Given the description of an element on the screen output the (x, y) to click on. 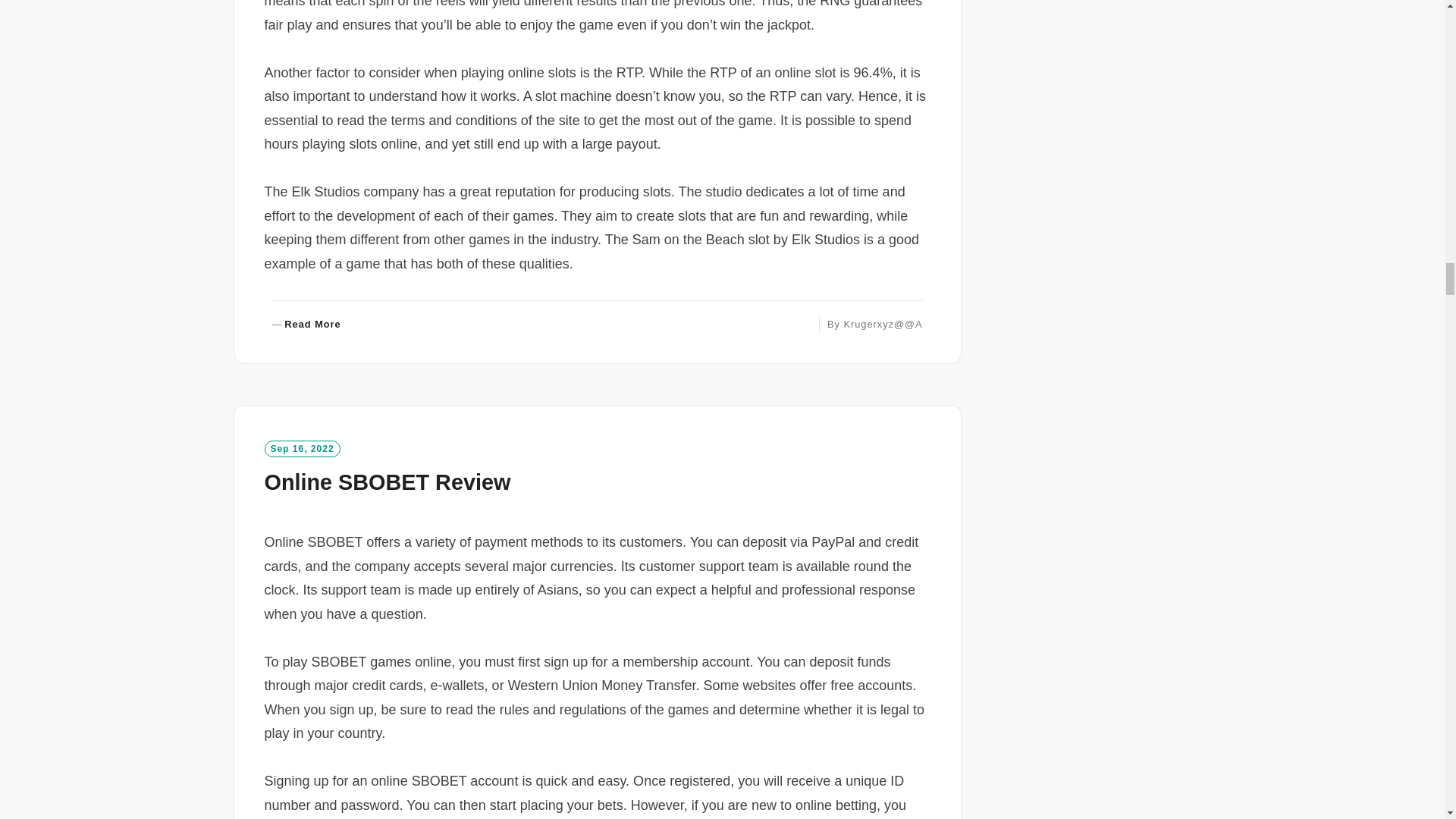
Online SBOBET Review (387, 482)
Sep 16, 2022 (301, 448)
